Given the description of an element on the screen output the (x, y) to click on. 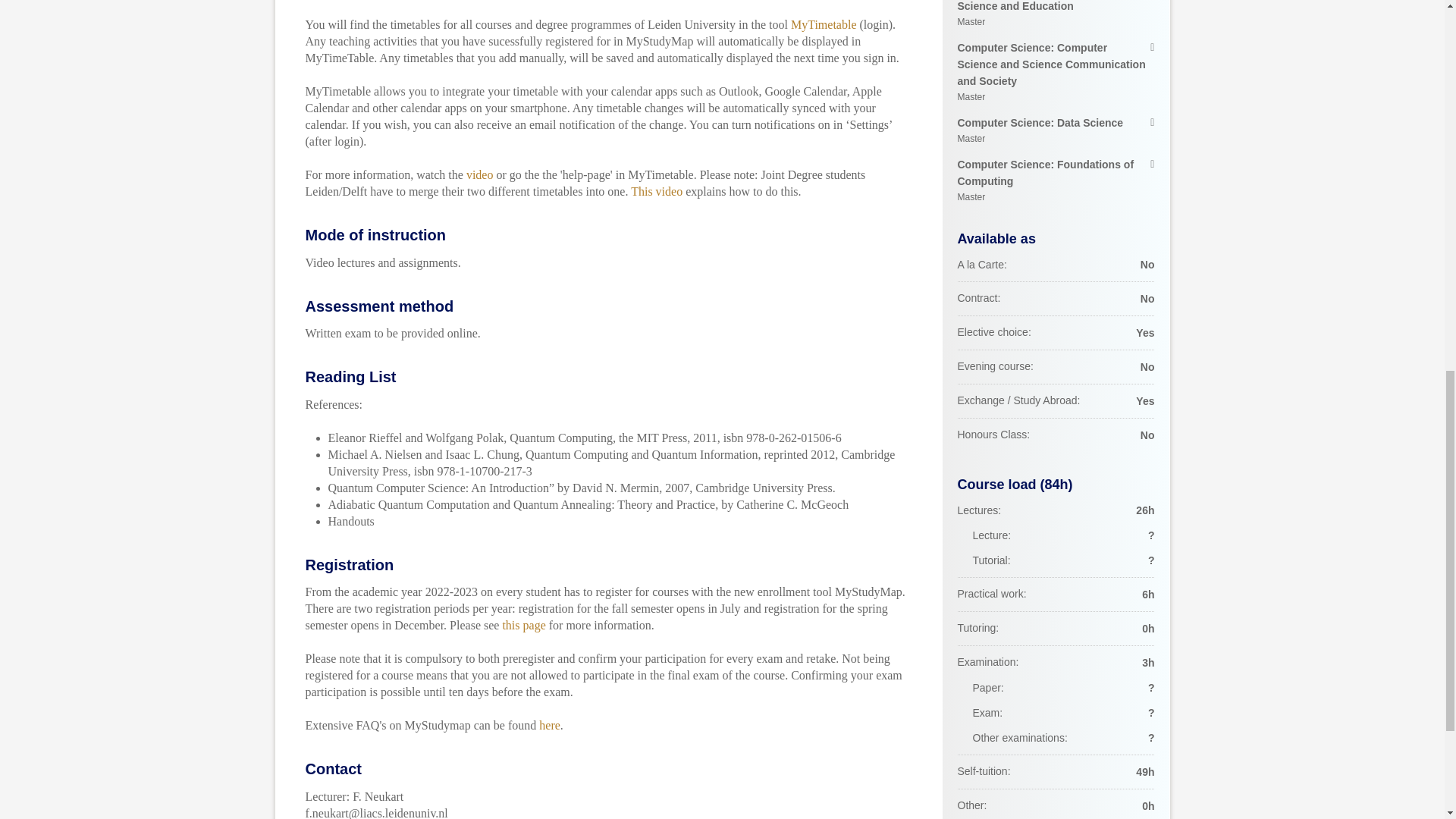
This video (656, 191)
video (479, 174)
here (549, 725)
MyTimetable (823, 24)
this page (1055, 15)
